Given the description of an element on the screen output the (x, y) to click on. 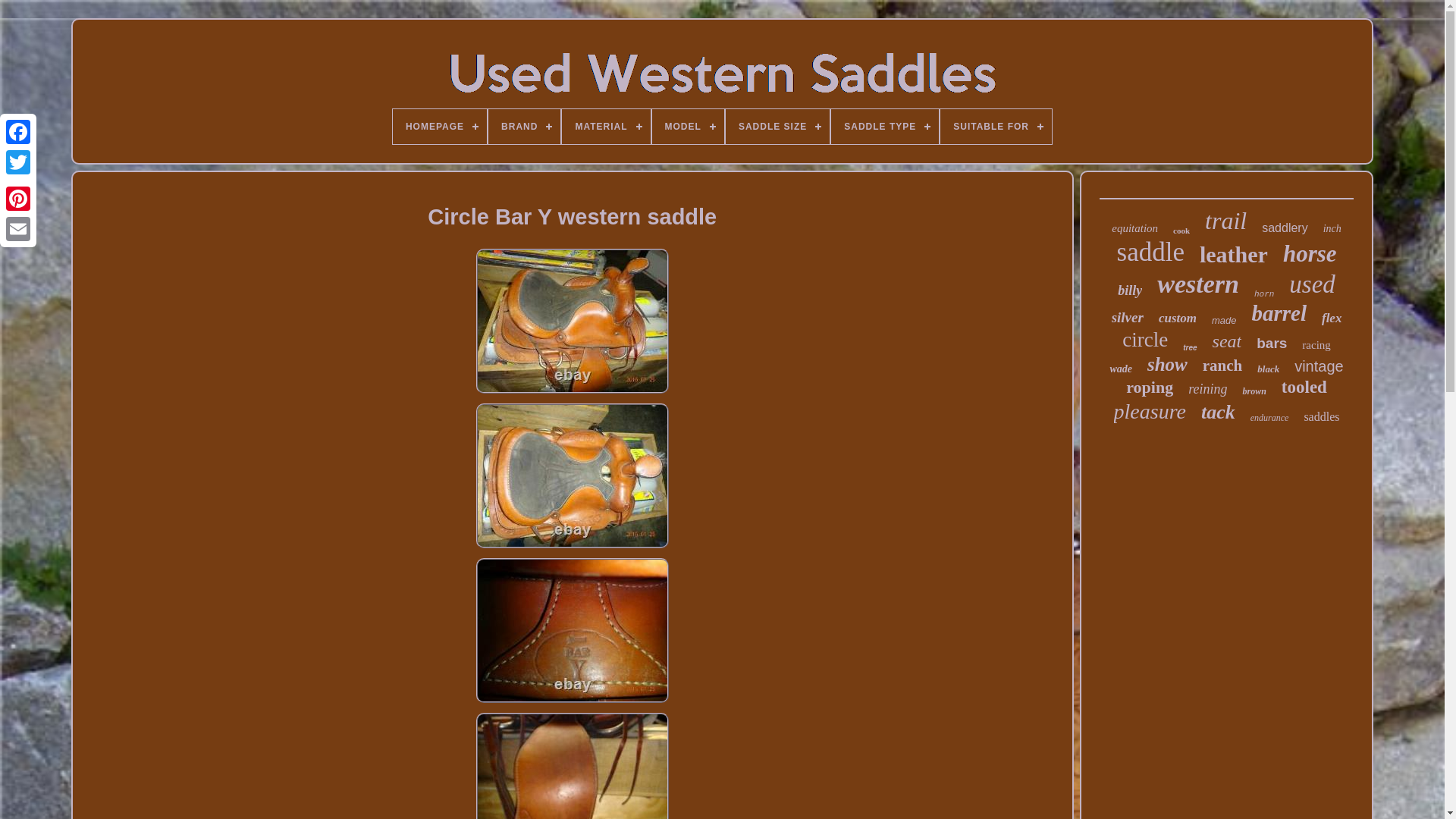
Circle Bar Y western saddle (572, 765)
Circle Bar Y western saddle (572, 320)
HOMEPAGE (439, 126)
Circle Bar Y western saddle (572, 475)
Circle Bar Y western saddle (572, 629)
BRAND (523, 126)
MATERIAL (605, 126)
